Given the description of an element on the screen output the (x, y) to click on. 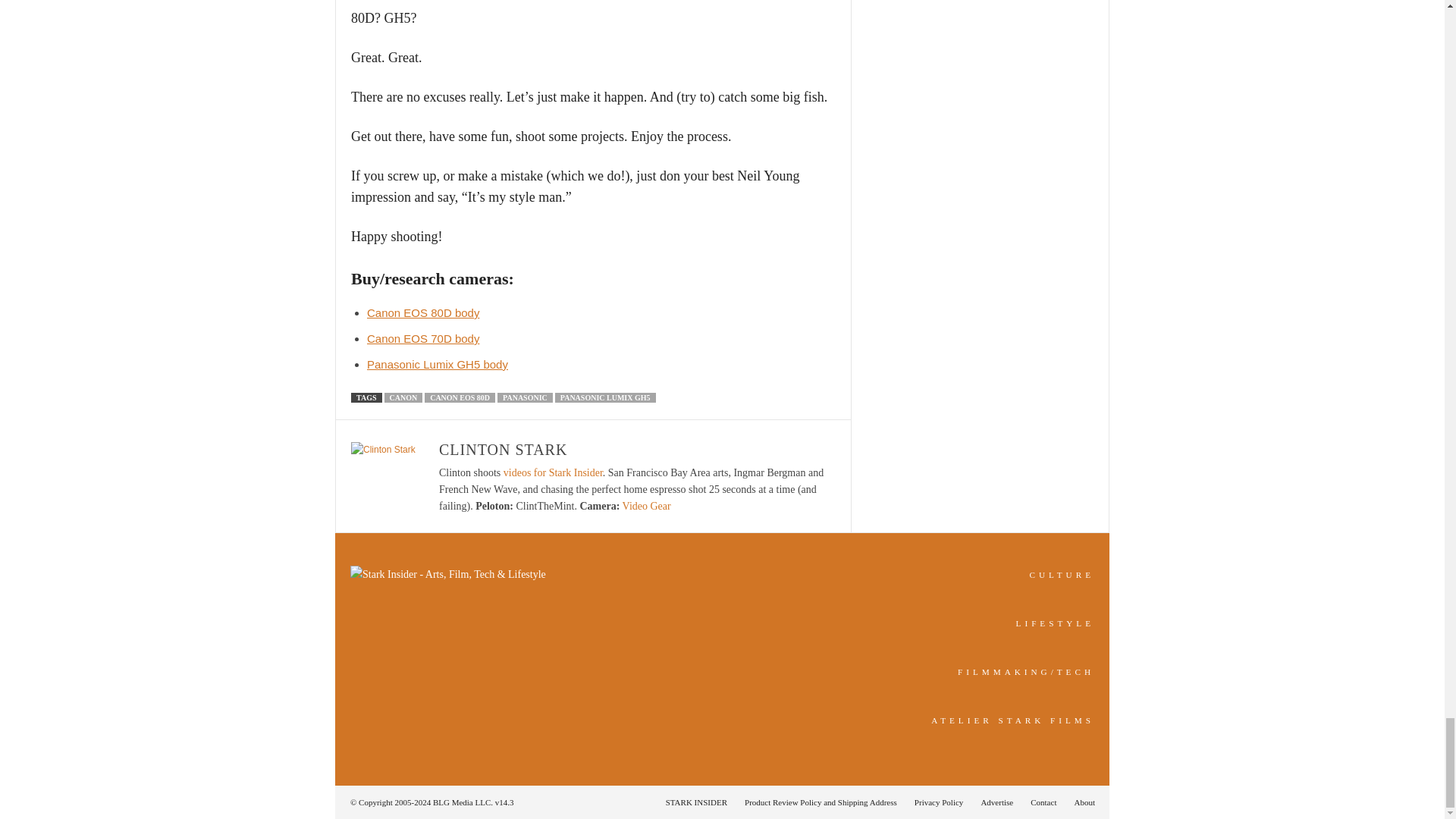
CANON EOS 80D (460, 397)
PANASONIC (525, 397)
PANASONIC LUMIX GH5 (605, 397)
Panasonic Lumix GH5 body (437, 364)
CANON (403, 397)
Canon EOS 80D body (422, 312)
videos for Stark Insider (552, 472)
Canon EOS 70D body (422, 338)
CLINTON STARK (503, 449)
